Given the description of an element on the screen output the (x, y) to click on. 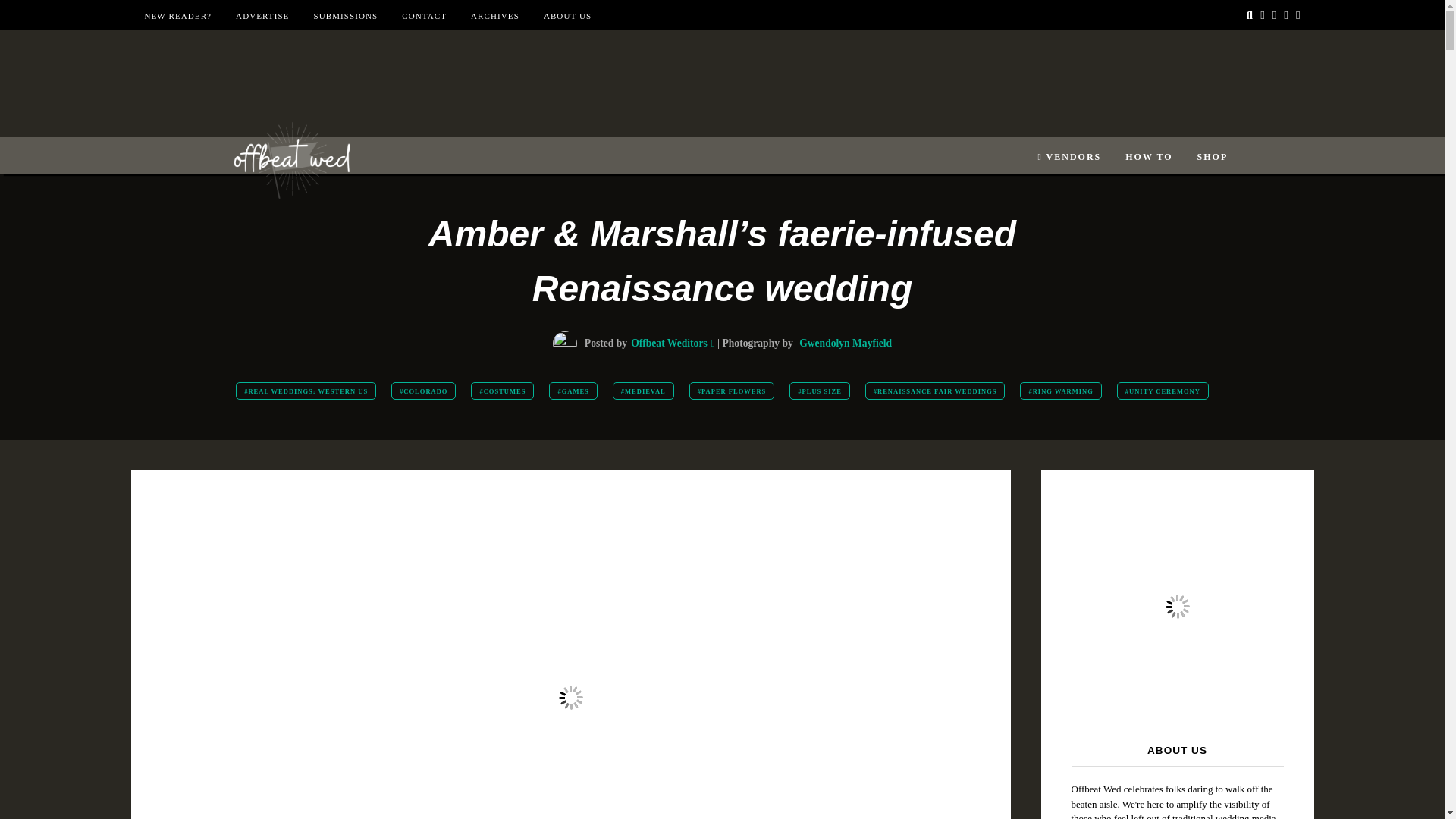
Offbeat Weditors (668, 343)
Posts by Offbeat Weditors (668, 343)
CONTACT (423, 15)
HOW TO (1148, 157)
SUBMISSIONS (345, 15)
ARCHIVES (494, 15)
NEW READER? (177, 15)
Gwendolyn Mayfield (845, 342)
ABOUT US (567, 15)
ADVERTISE (261, 15)
